Given the description of an element on the screen output the (x, y) to click on. 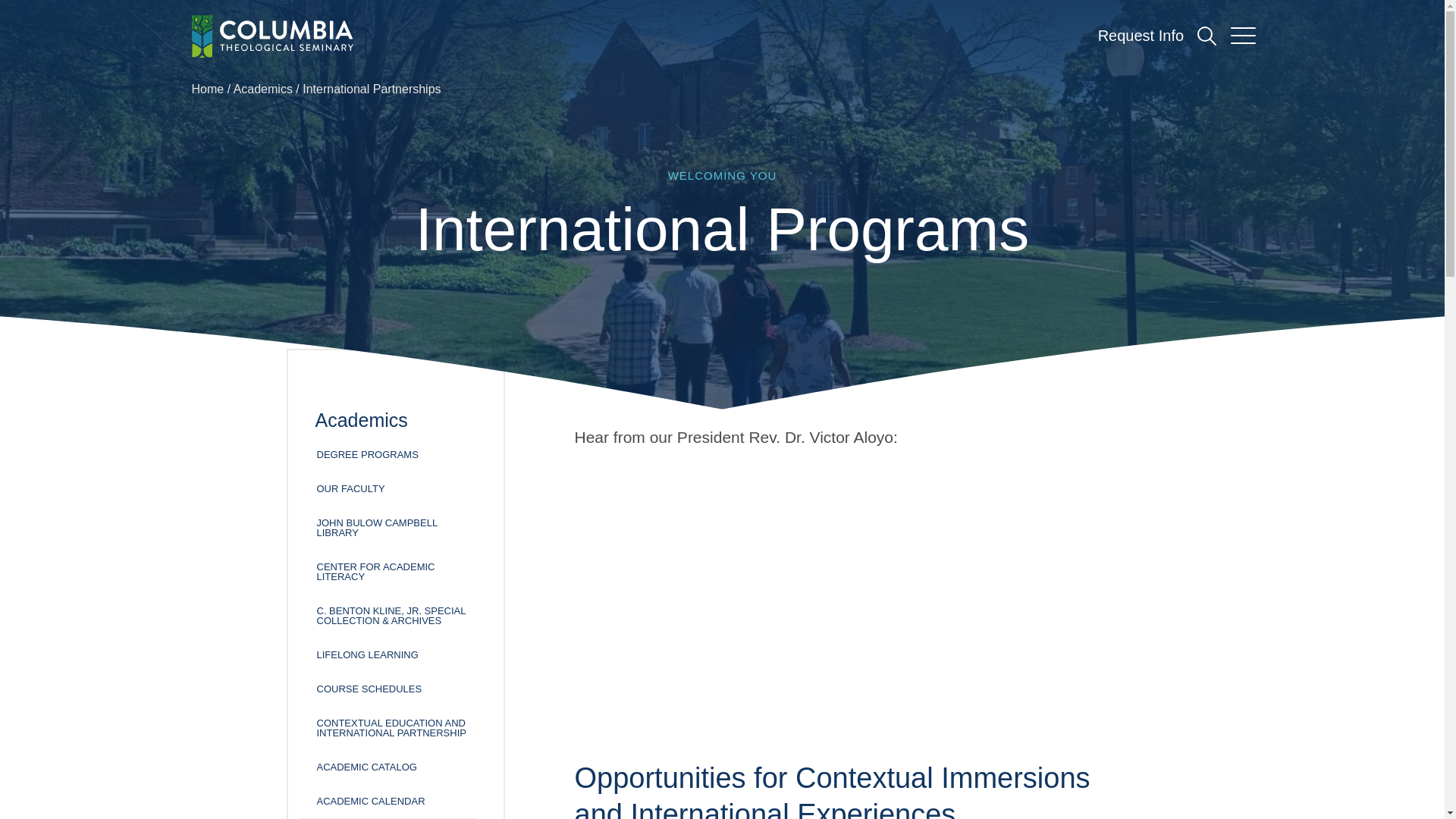
CENTER FOR ACADEMIC LITERACY (395, 571)
ACADEMIC CALENDAR (395, 800)
COURSE SCHEDULES (395, 688)
OUR FACULTY (395, 488)
DEGREE PROGRAMS (395, 454)
LIFELONG LEARNING (395, 654)
JOHN BULOW CAMPBELL LIBRARY (395, 527)
Academics (262, 88)
CONTEXTUAL EDUCATION AND INTERNATIONAL PARTNERSHIP (395, 727)
Request Info (1140, 35)
